Given the description of an element on the screen output the (x, y) to click on. 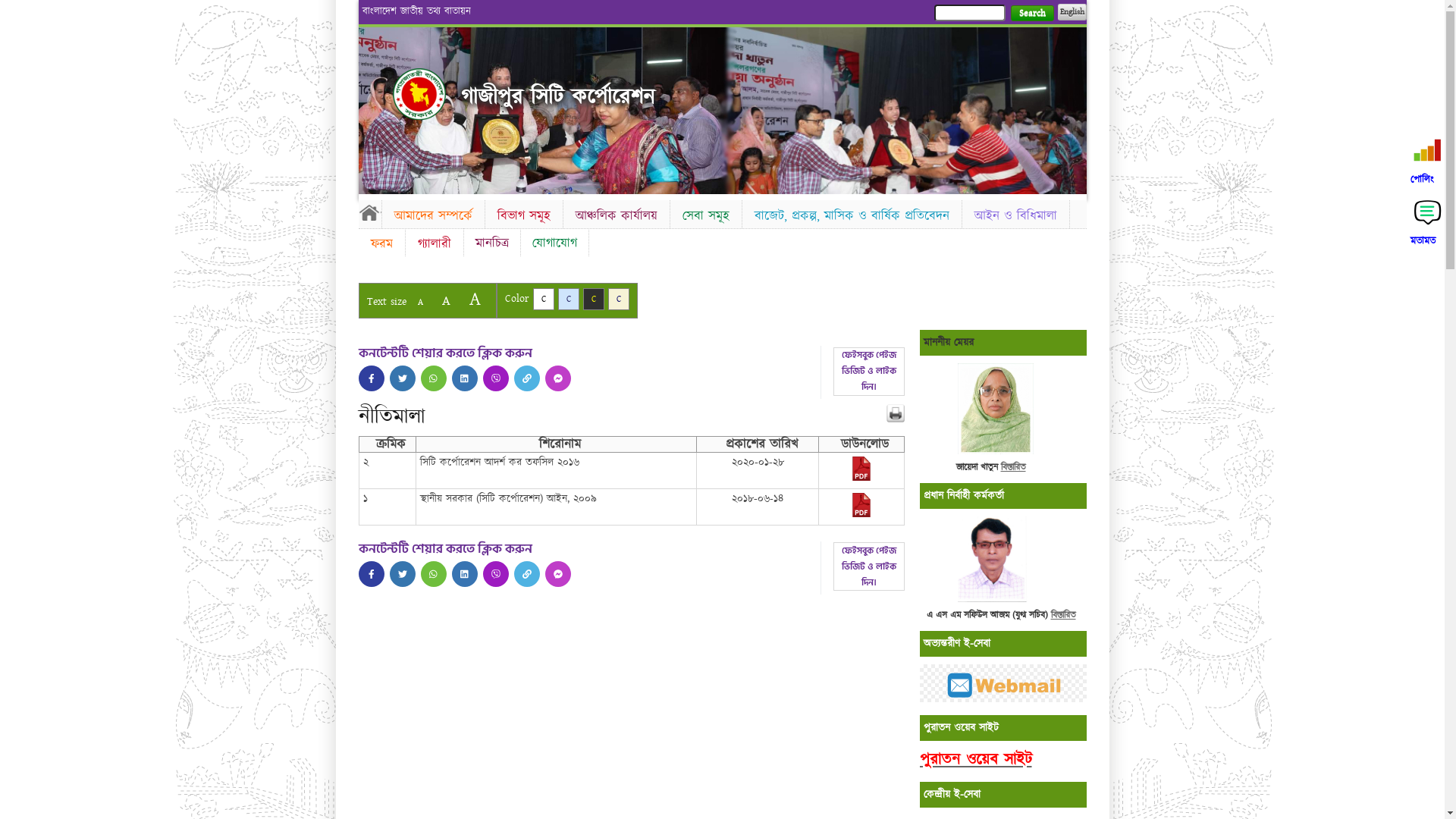
Home Element type: hover (418, 93)
A Element type: text (474, 298)
A Element type: text (445, 300)
Search Element type: text (1031, 13)
A Element type: text (419, 301)
2022-09-20-05-23-7ac36feb3dcc86e0db490987f894f767.pdf Element type: hover (861, 477)
C Element type: text (592, 299)
C Element type: text (618, 299)
C Element type: text (568, 299)
Home Element type: hover (368, 211)
C Element type: text (542, 299)
English Element type: text (1071, 11)
2022-09-20-04-53-ba7c27712b27bf6d761b83e88bb145db.pdf Element type: hover (861, 513)
